Given the description of an element on the screen output the (x, y) to click on. 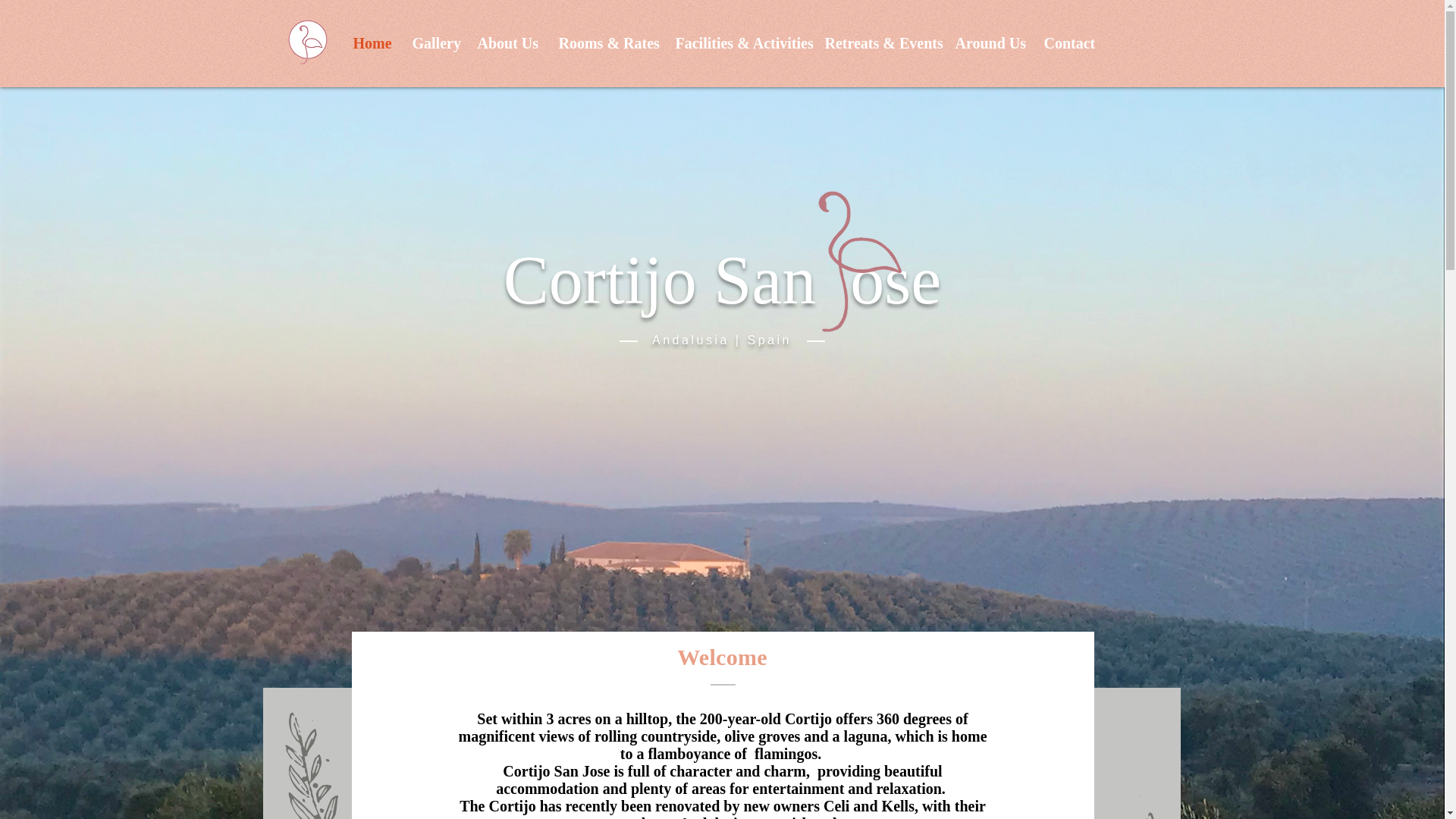
Gallery (432, 43)
Home (370, 43)
Cortijo San  ose (722, 279)
Around Us (987, 43)
Contact (1067, 43)
About Us (506, 43)
